Given the description of an element on the screen output the (x, y) to click on. 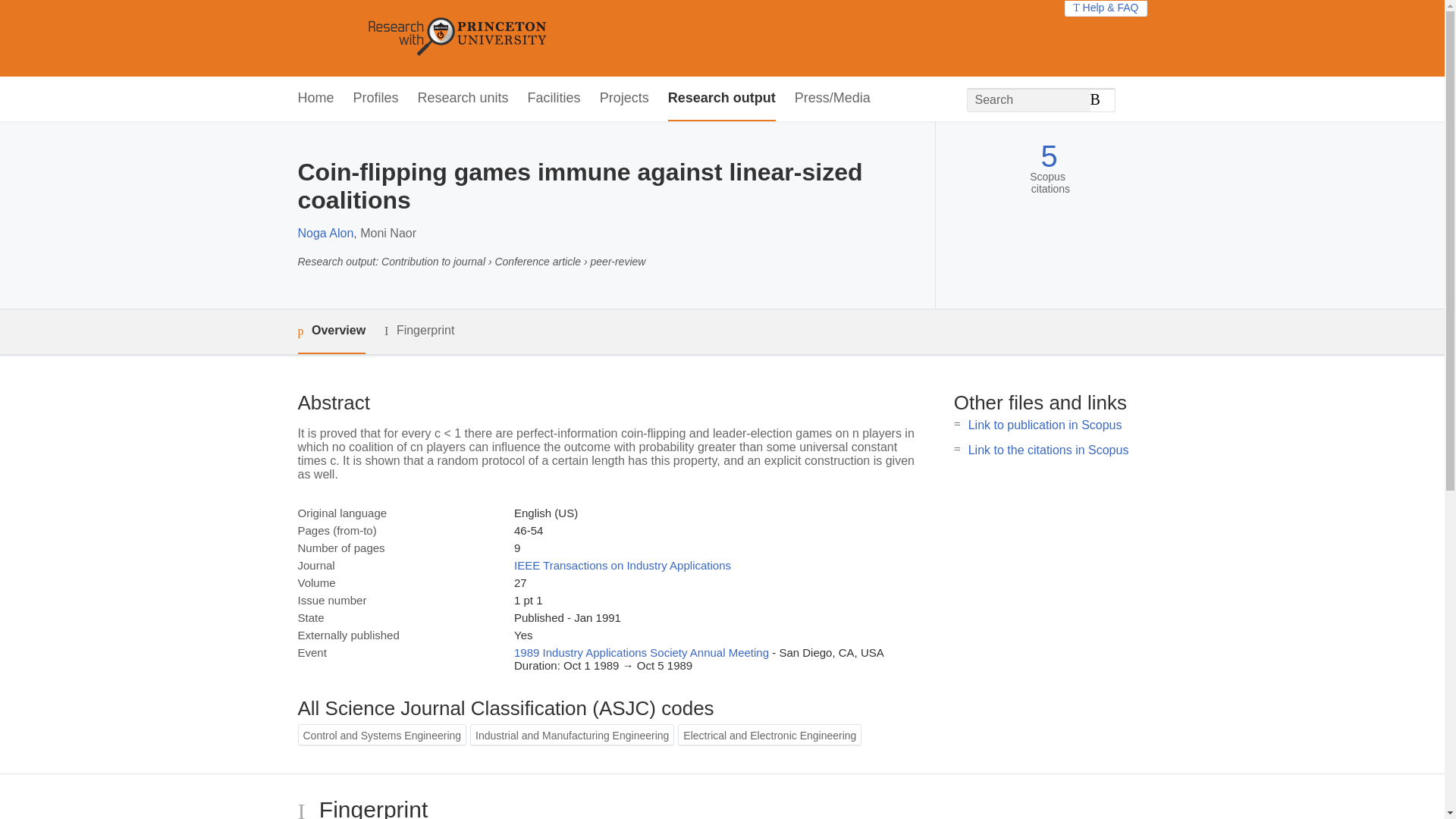
Research units (462, 98)
Facilities (553, 98)
Profiles (375, 98)
Link to publication in Scopus (1045, 424)
Princeton University Home (567, 38)
1989 Industry Applications Society Annual Meeting (640, 652)
Overview (331, 331)
Link to the citations in Scopus (1048, 449)
Research output (722, 98)
IEEE Transactions on Industry Applications (621, 564)
Projects (624, 98)
Fingerprint (419, 330)
Noga Alon (325, 232)
